Given the description of an element on the screen output the (x, y) to click on. 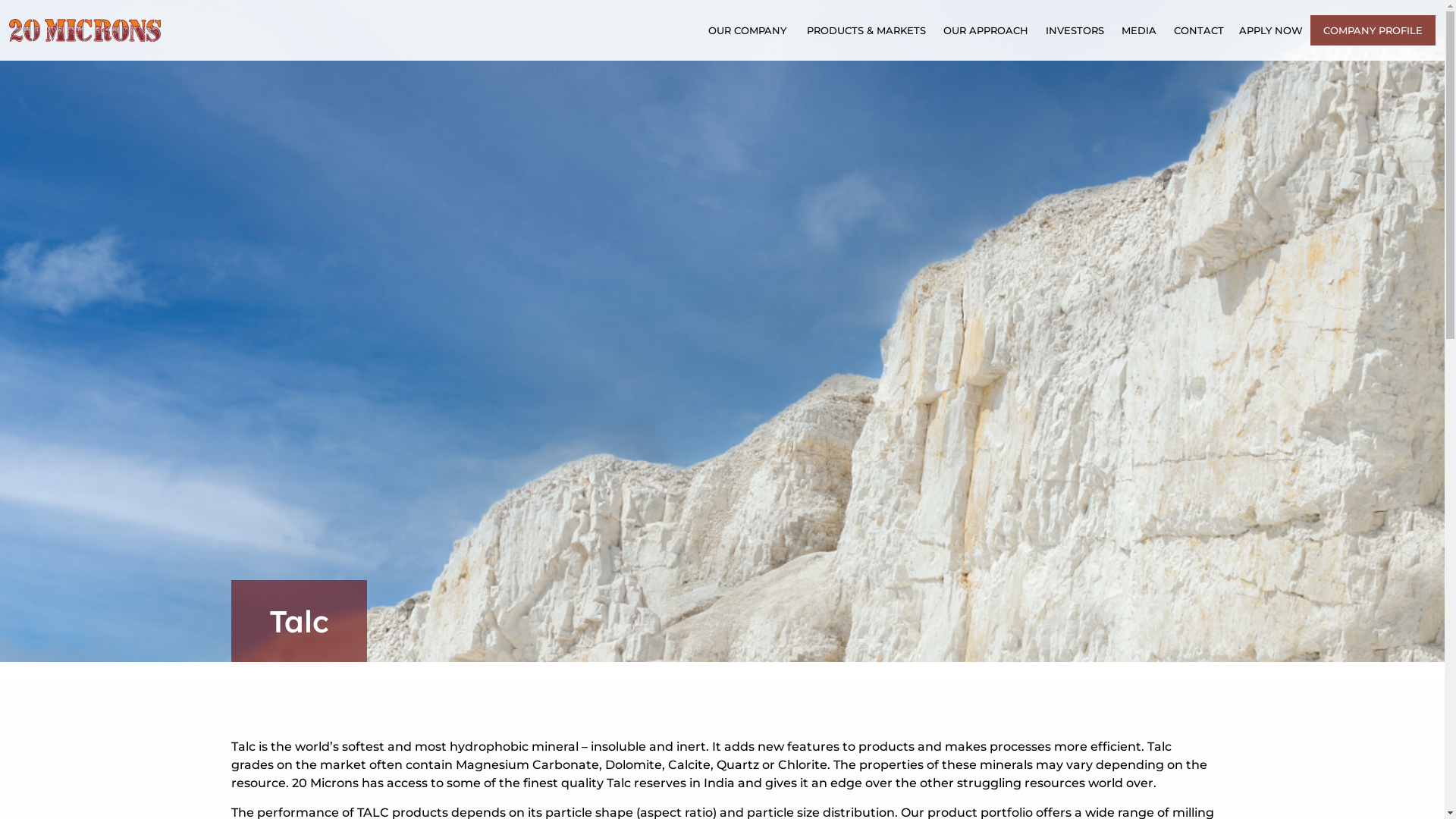
CONTACT Element type: text (1198, 30)
INVESTORS Element type: text (1075, 30)
COMPANY PROFILE Element type: text (1372, 30)
APPLY NOW Element type: text (1270, 30)
MEDIA Element type: text (1139, 30)
OUR COMPANY Element type: text (743, 30)
PRODUCTS & MARKETS Element type: text (867, 30)
OUR APPROACH Element type: text (986, 30)
